Given the description of an element on the screen output the (x, y) to click on. 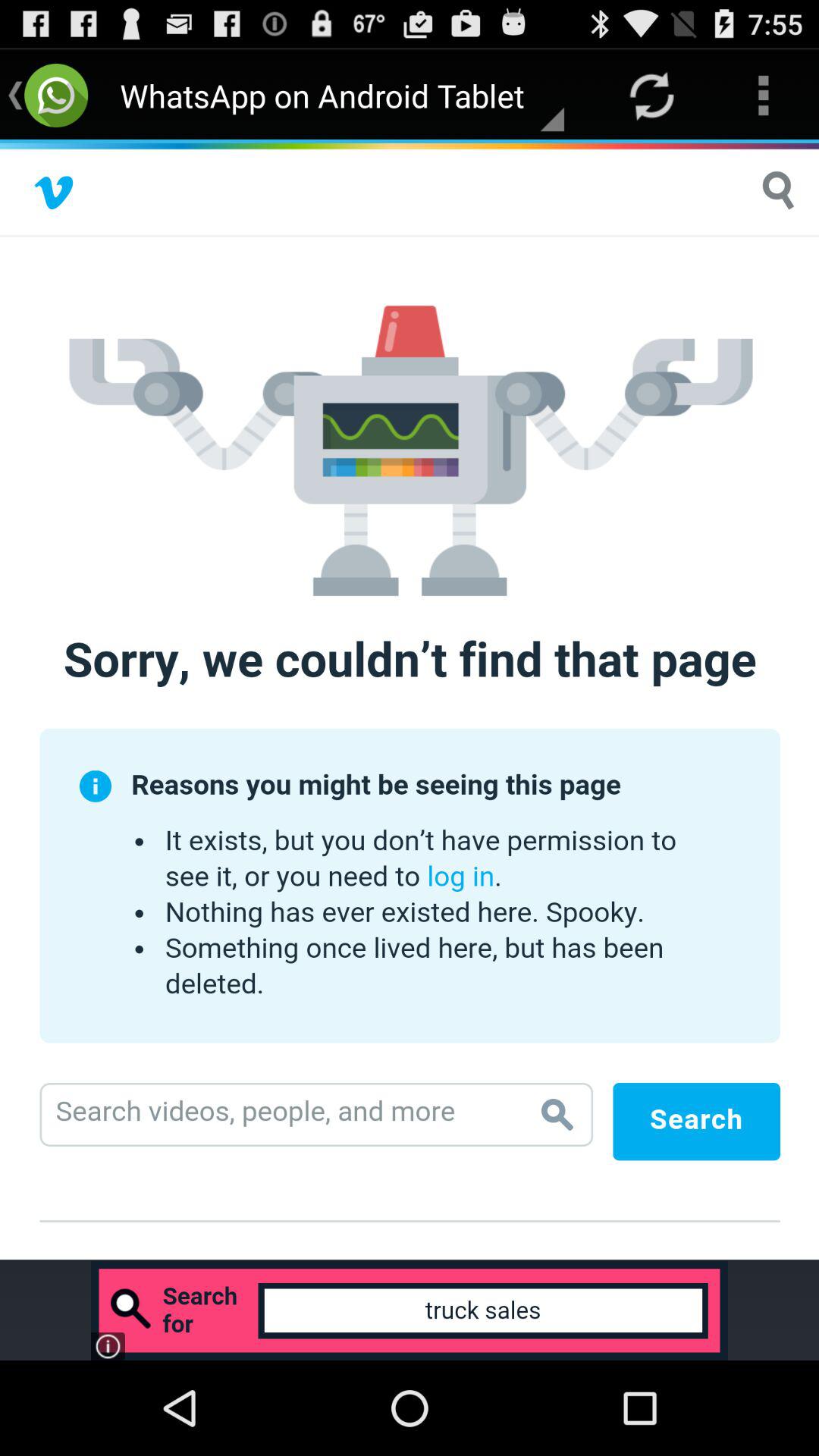
visit sponsor advertisement (409, 1310)
